Given the description of an element on the screen output the (x, y) to click on. 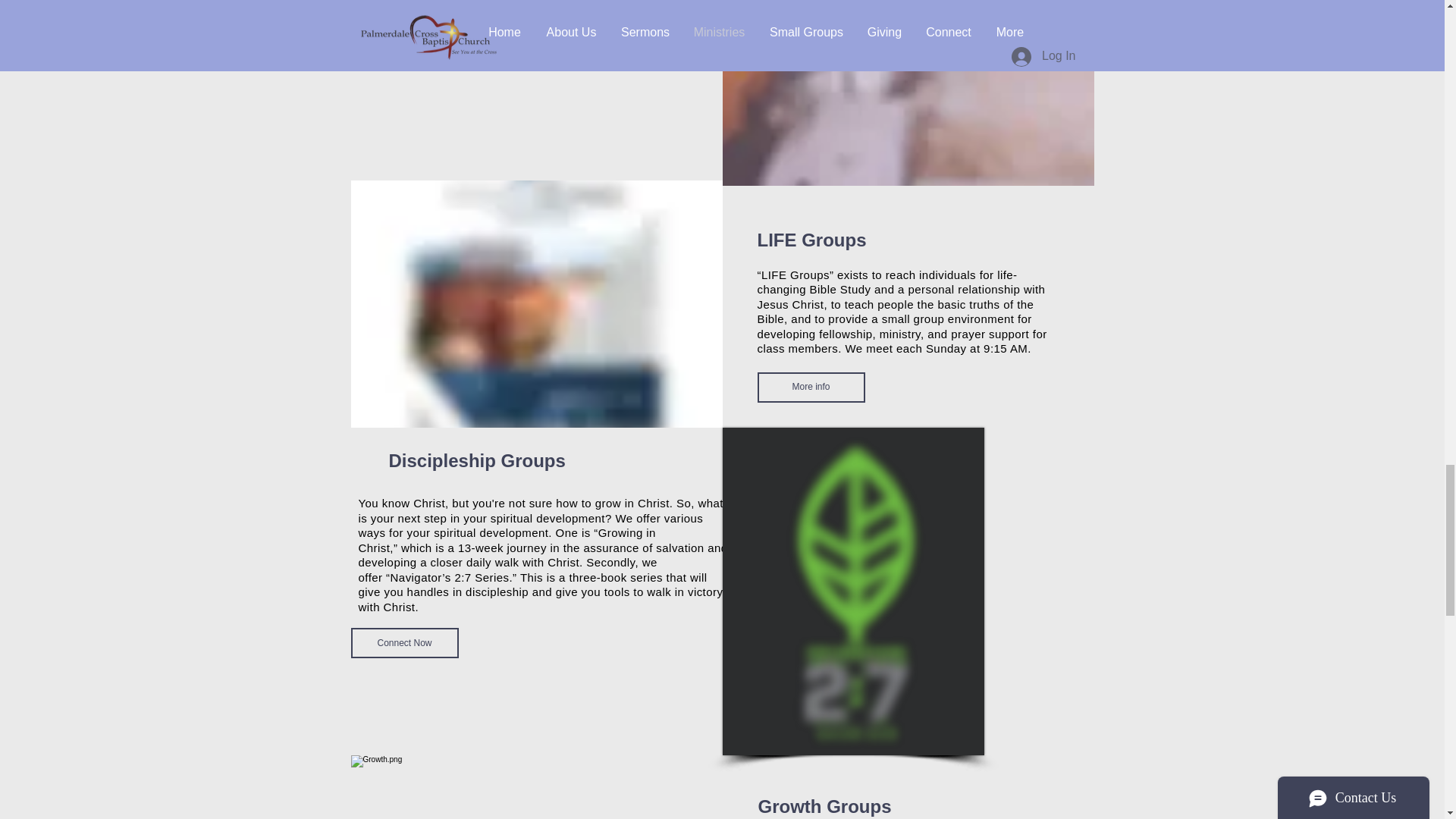
Connect Now (438, 27)
photo-1464500422302-6188776dcbf3-edit.jpg (907, 92)
More info (810, 387)
Connect Now (404, 643)
